Given the description of an element on the screen output the (x, y) to click on. 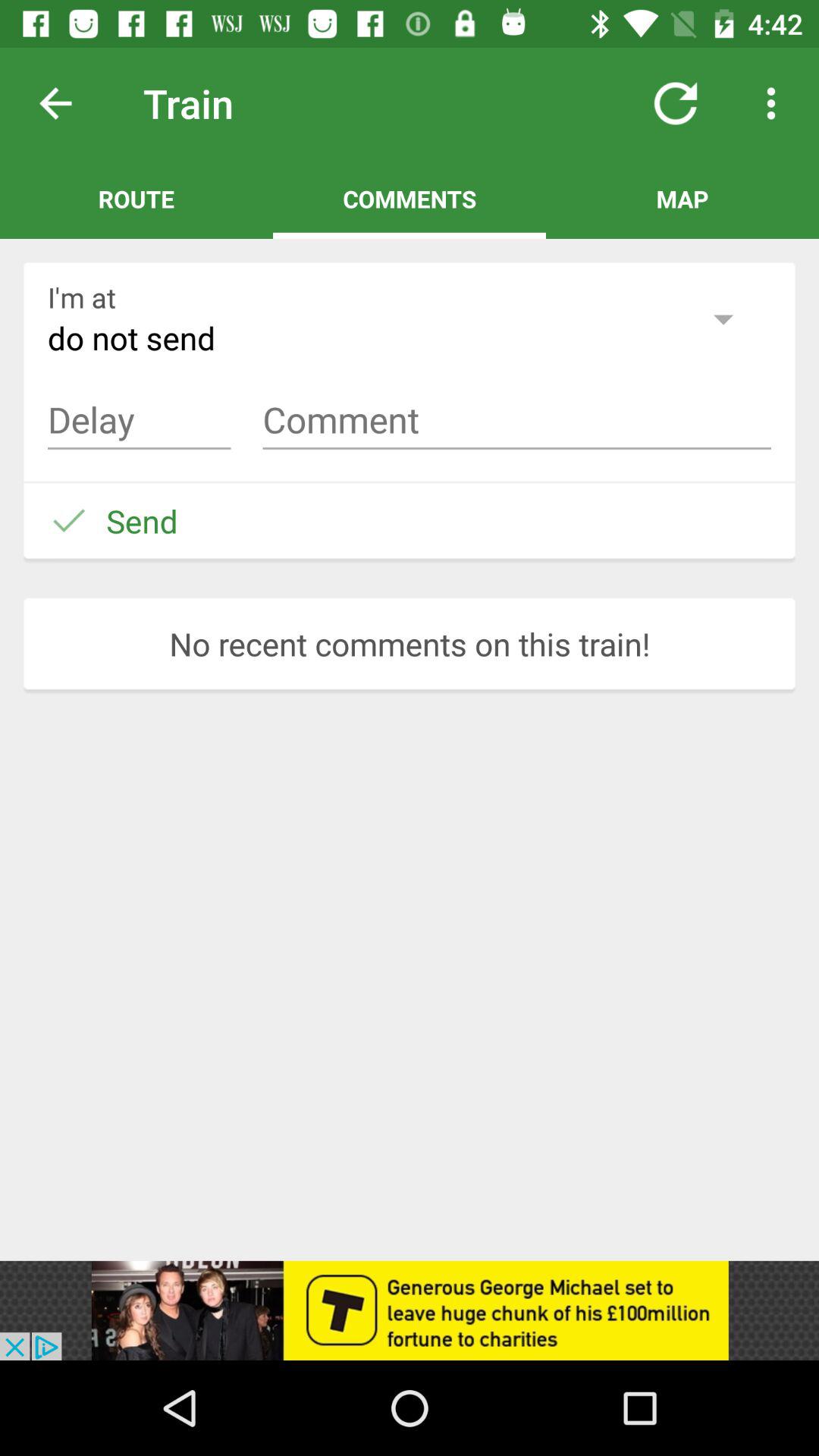
share the article (409, 1310)
